Given the description of an element on the screen output the (x, y) to click on. 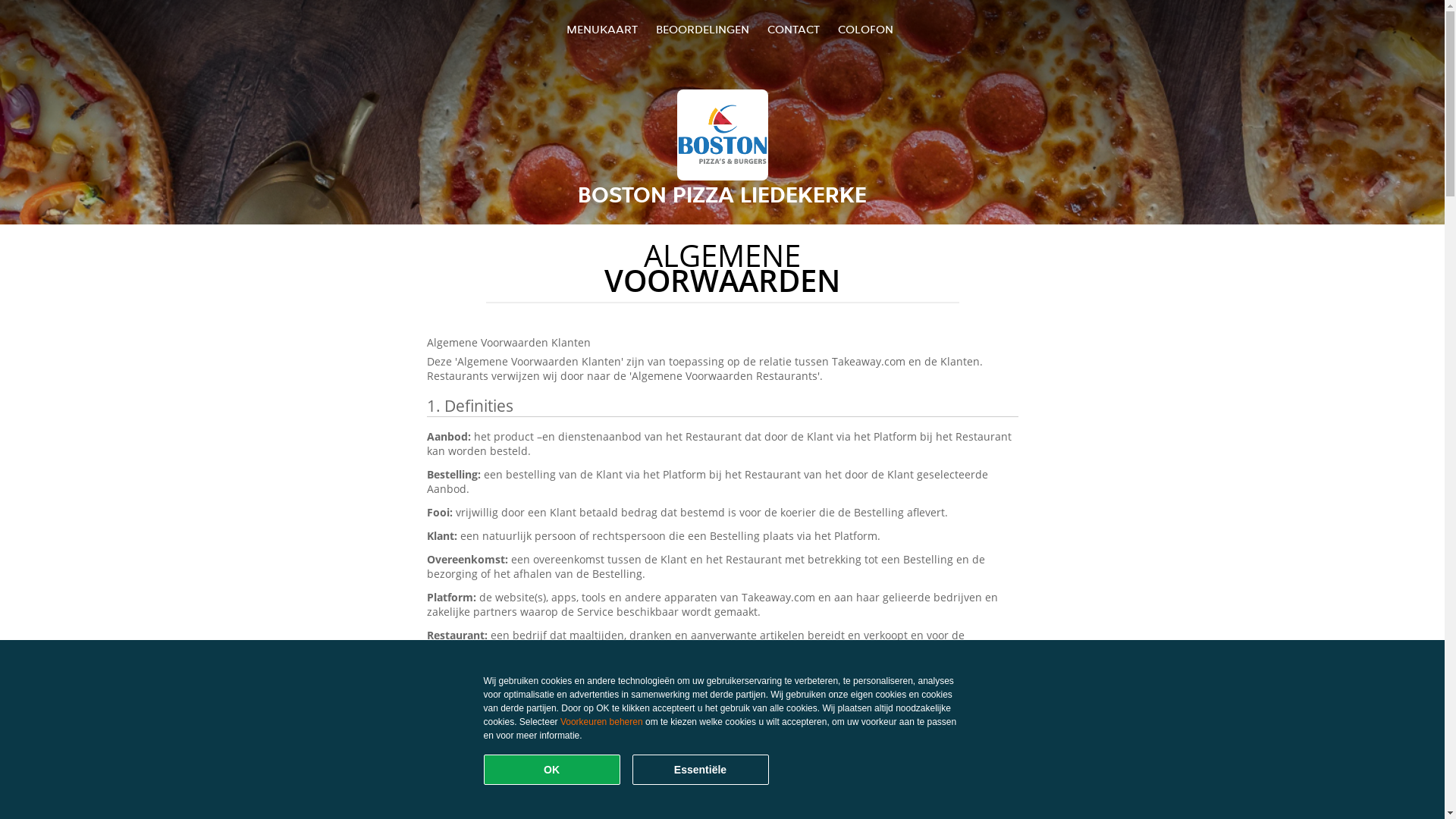
Voorkeuren beheren Element type: text (601, 721)
COLOFON Element type: text (865, 29)
MENUKAART Element type: text (601, 29)
BEOORDELINGEN Element type: text (702, 29)
OK Element type: text (551, 769)
CONTACT Element type: text (793, 29)
